Given the description of an element on the screen output the (x, y) to click on. 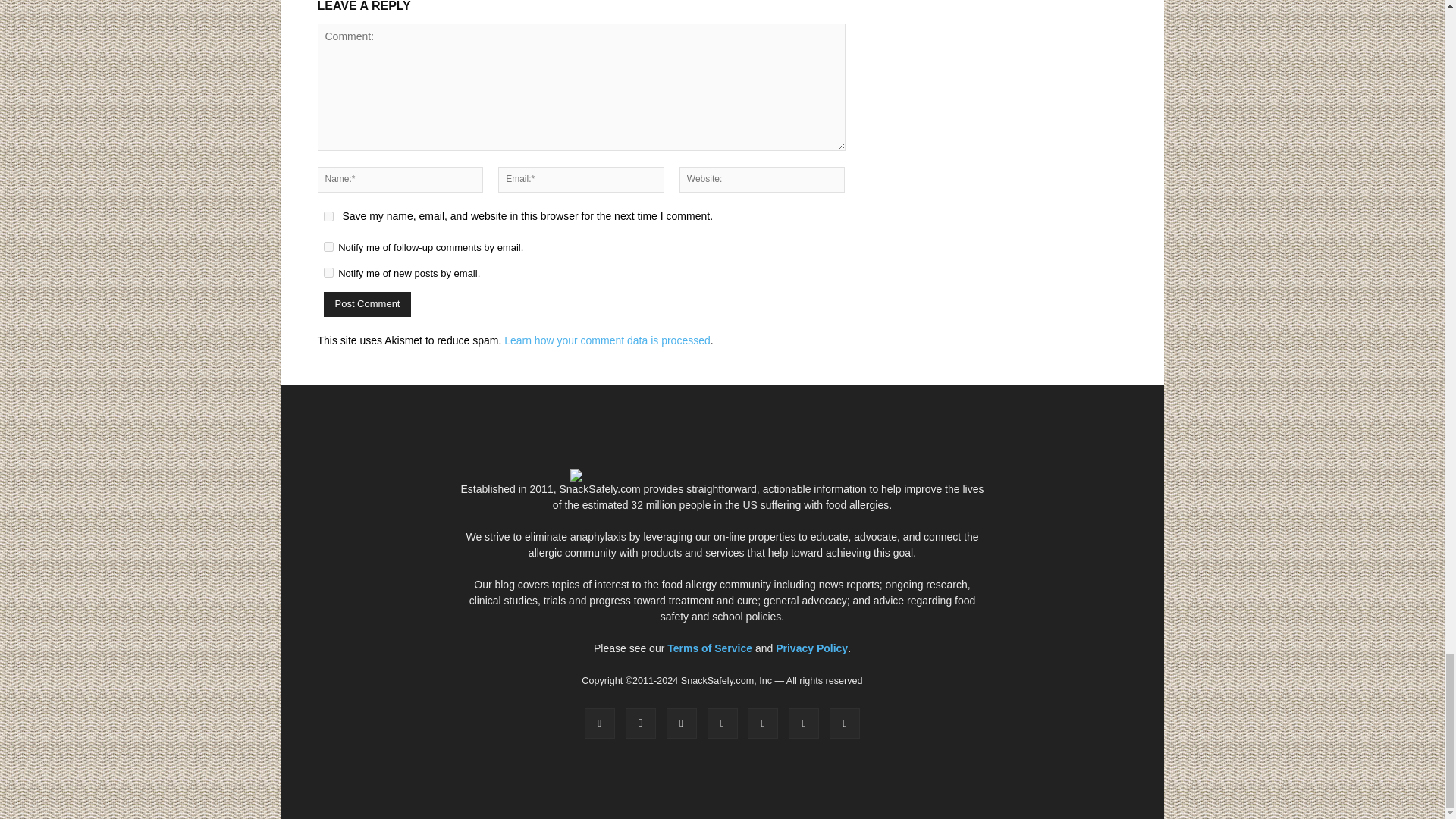
subscribe (328, 246)
subscribe (328, 272)
Post Comment (366, 303)
yes (328, 216)
